Given the description of an element on the screen output the (x, y) to click on. 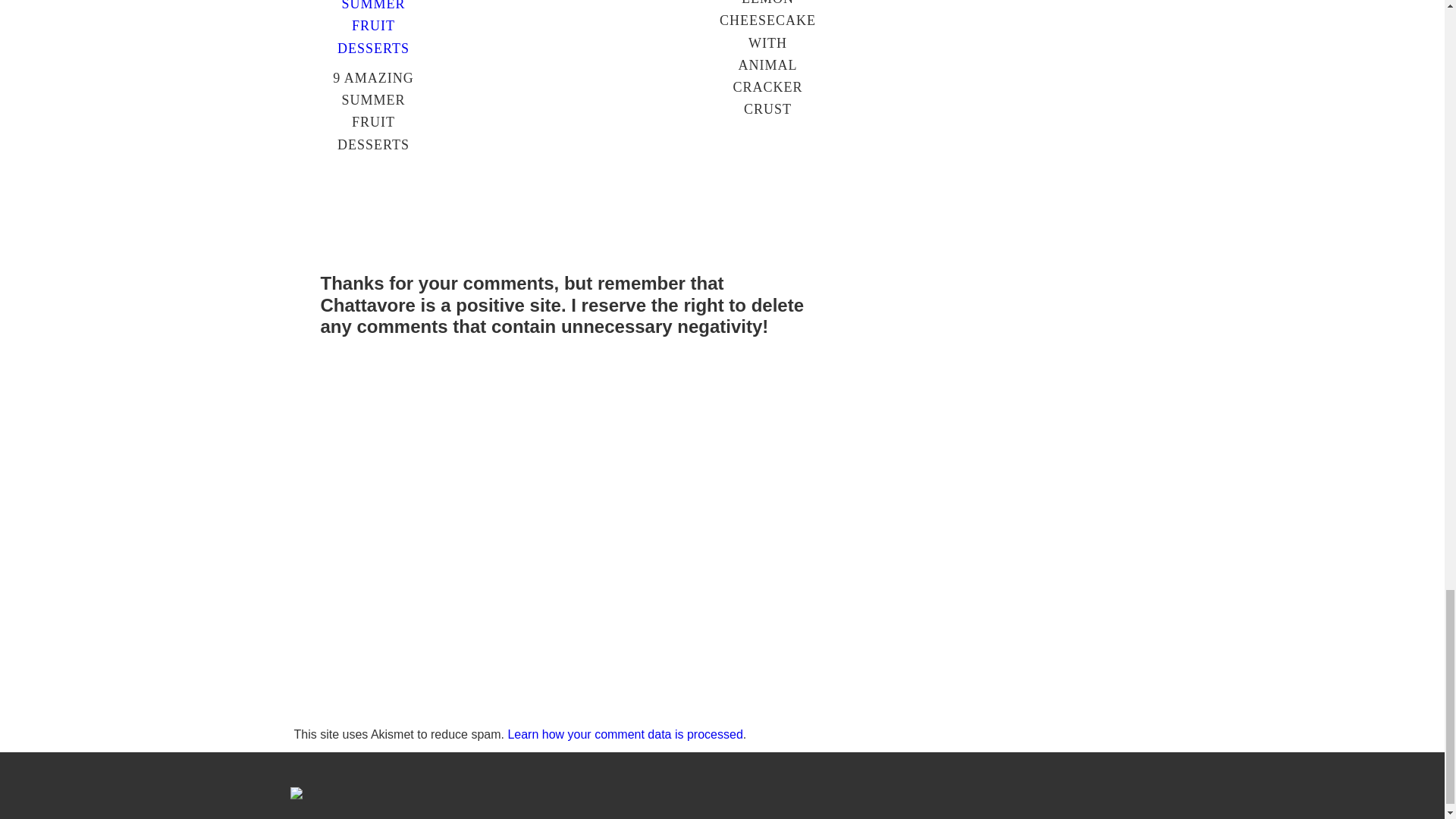
Instant Pot Lemon Cheesecake With Animal Cracker Crust (767, 342)
Get the Recipe Cards! (570, 49)
Get the Recipe Cards! (570, 49)
BY COURSE (435, 152)
Comment Form (570, 782)
9 Amazing Summer Fruit Desserts (373, 444)
